Given the description of an element on the screen output the (x, y) to click on. 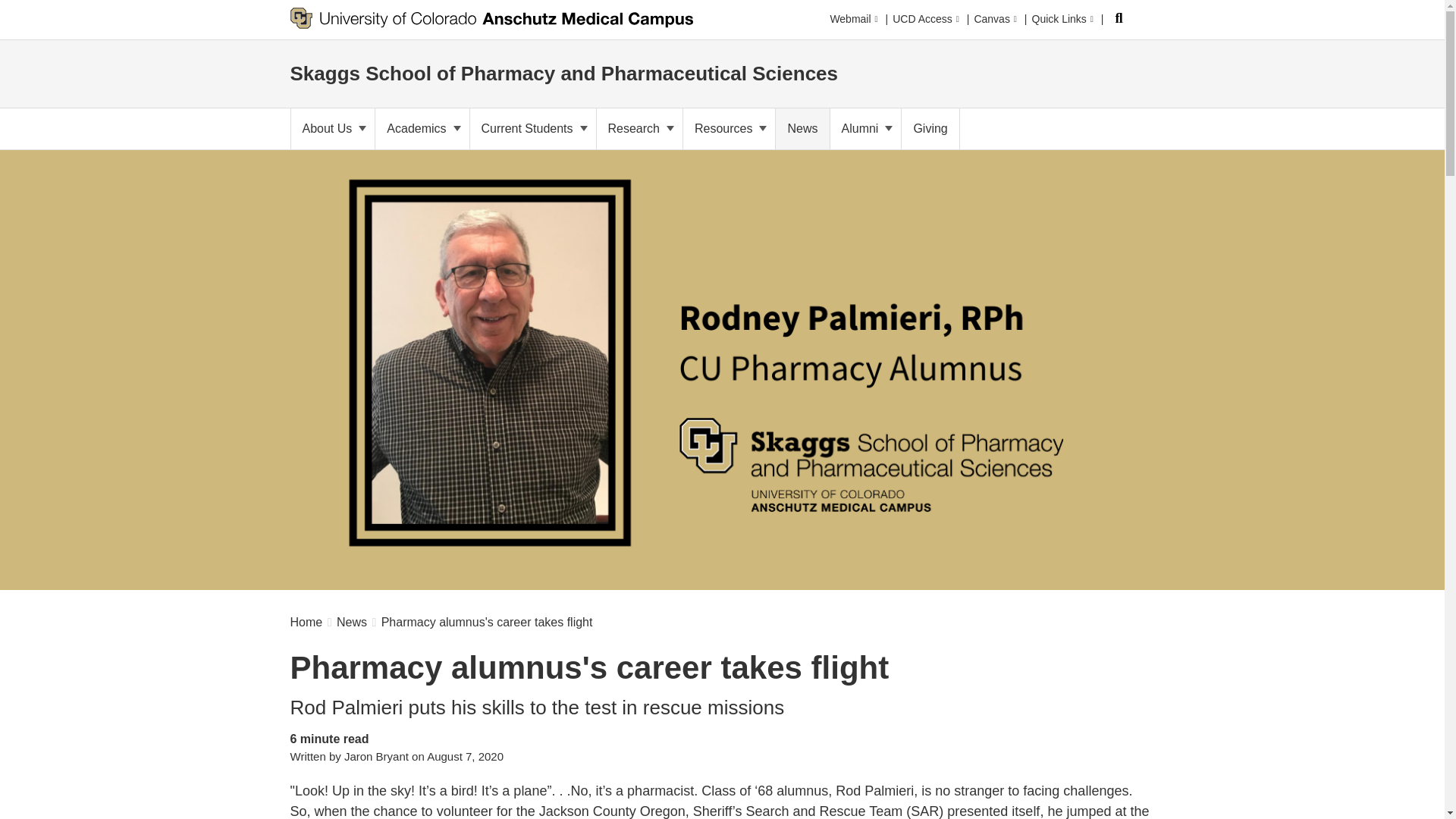
Skaggs School of Pharmacy and Pharmaceutical Sciences (563, 70)
About Us (333, 128)
Canvas (995, 15)
Quick Links (1061, 16)
UCD Access (925, 15)
Webmail (853, 15)
